Given the description of an element on the screen output the (x, y) to click on. 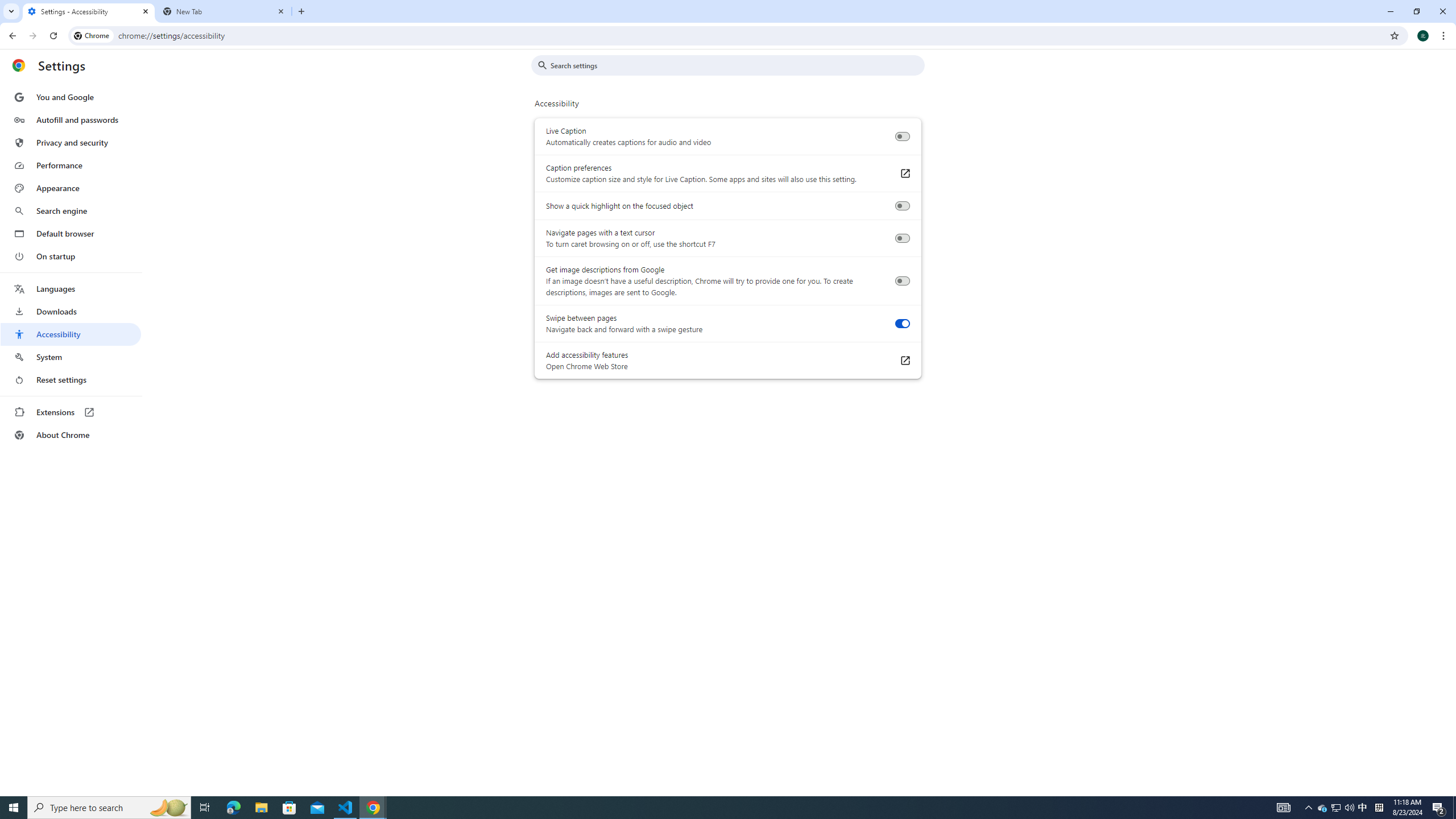
Performance (70, 164)
Reset settings (70, 379)
New Tab (224, 11)
You and Google (70, 96)
Show a quick highlight on the focused object (901, 206)
Autofill and passwords (70, 119)
